Given the description of an element on the screen output the (x, y) to click on. 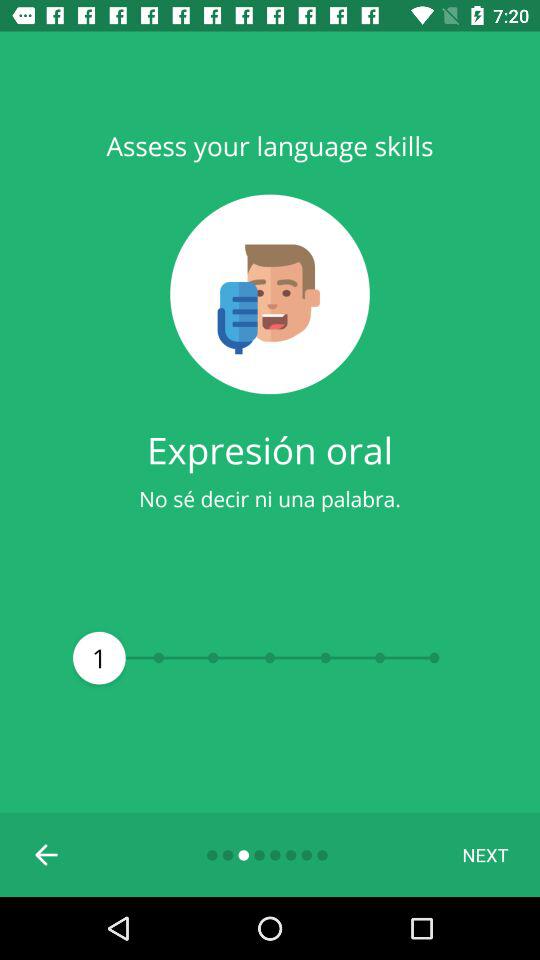
turn on icon to the left of next icon (47, 854)
